Given the description of an element on the screen output the (x, y) to click on. 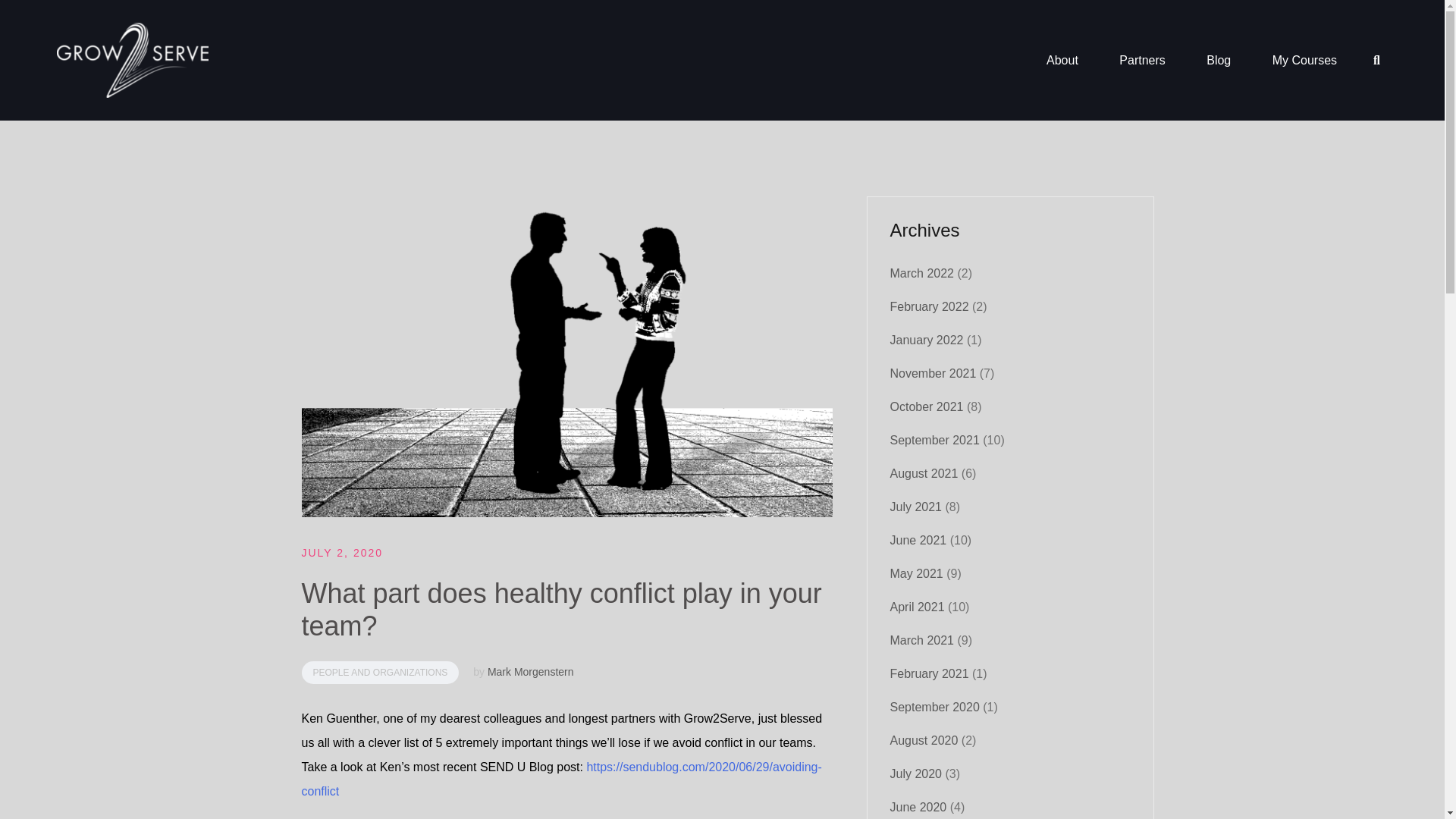
August 2021 (923, 472)
Mark Morgenstern (530, 671)
Partners (1141, 60)
JULY 2, 2020 (342, 552)
September 2021 (934, 440)
Blog (1218, 60)
October 2021 (926, 406)
February 2022 (929, 306)
March 2022 (922, 273)
November 2021 (932, 373)
